Given the description of an element on the screen output the (x, y) to click on. 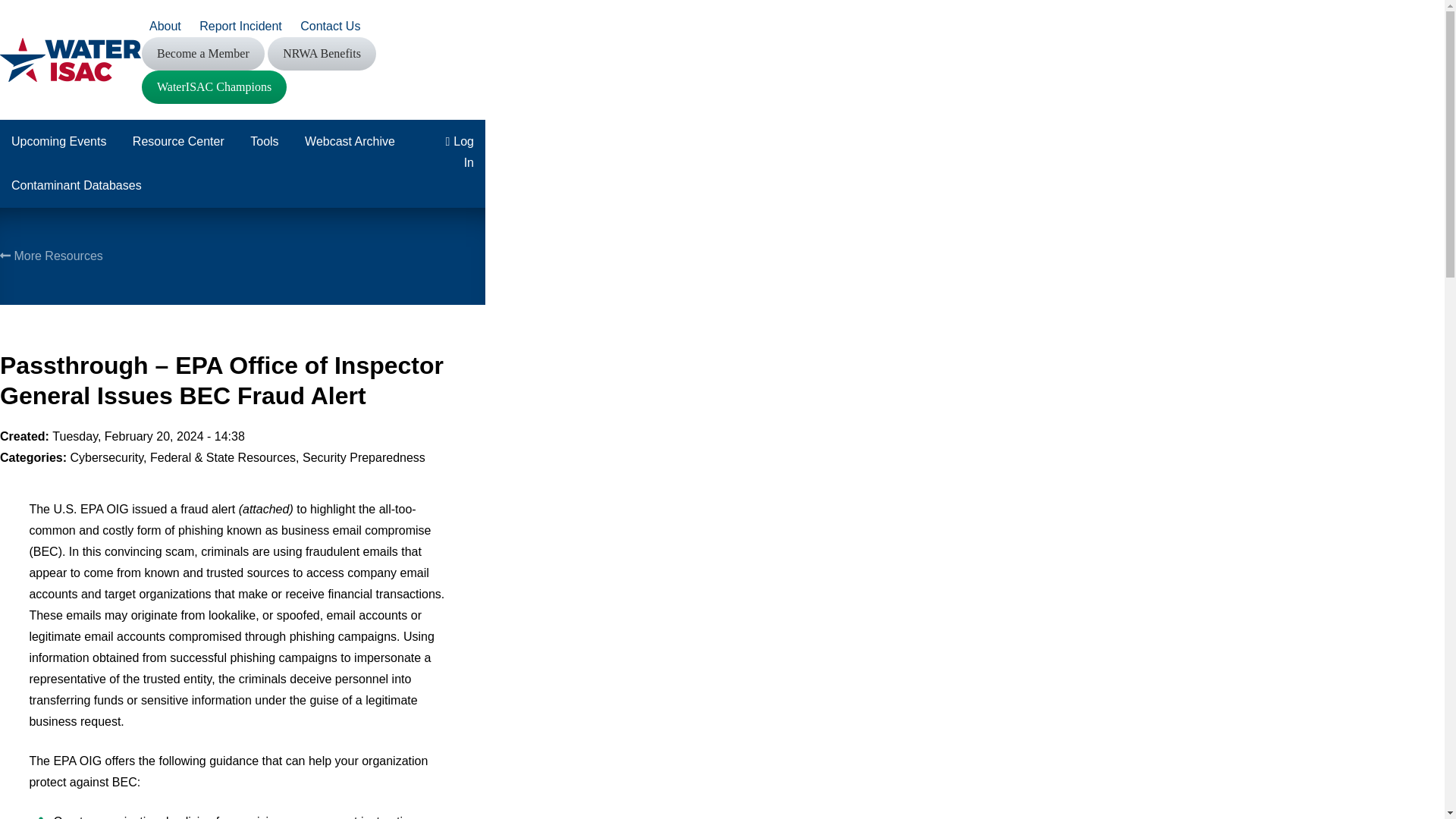
Upcoming Events (58, 141)
Report Incident (240, 25)
Tools (263, 141)
More Resources (51, 255)
Contact Us (330, 25)
Resource Center (177, 141)
NRWA Benefits (321, 53)
About (165, 25)
WaterISAC Champions (213, 87)
Become a Member (202, 53)
